Given the description of an element on the screen output the (x, y) to click on. 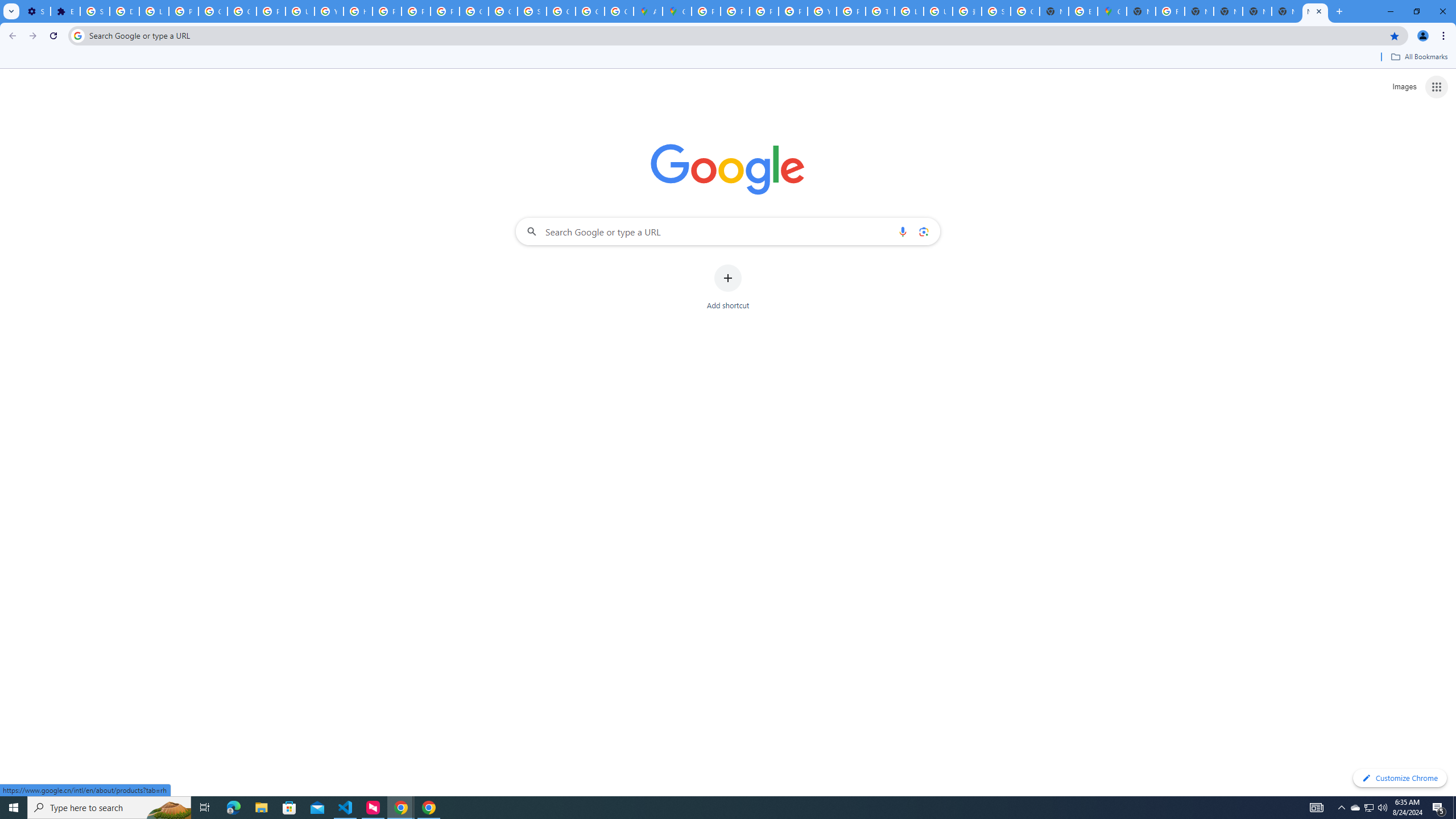
New Tab (1140, 11)
Privacy Help Center - Policies Help (734, 11)
Add shortcut (727, 287)
Search Google or type a URL (727, 230)
